Given the description of an element on the screen output the (x, y) to click on. 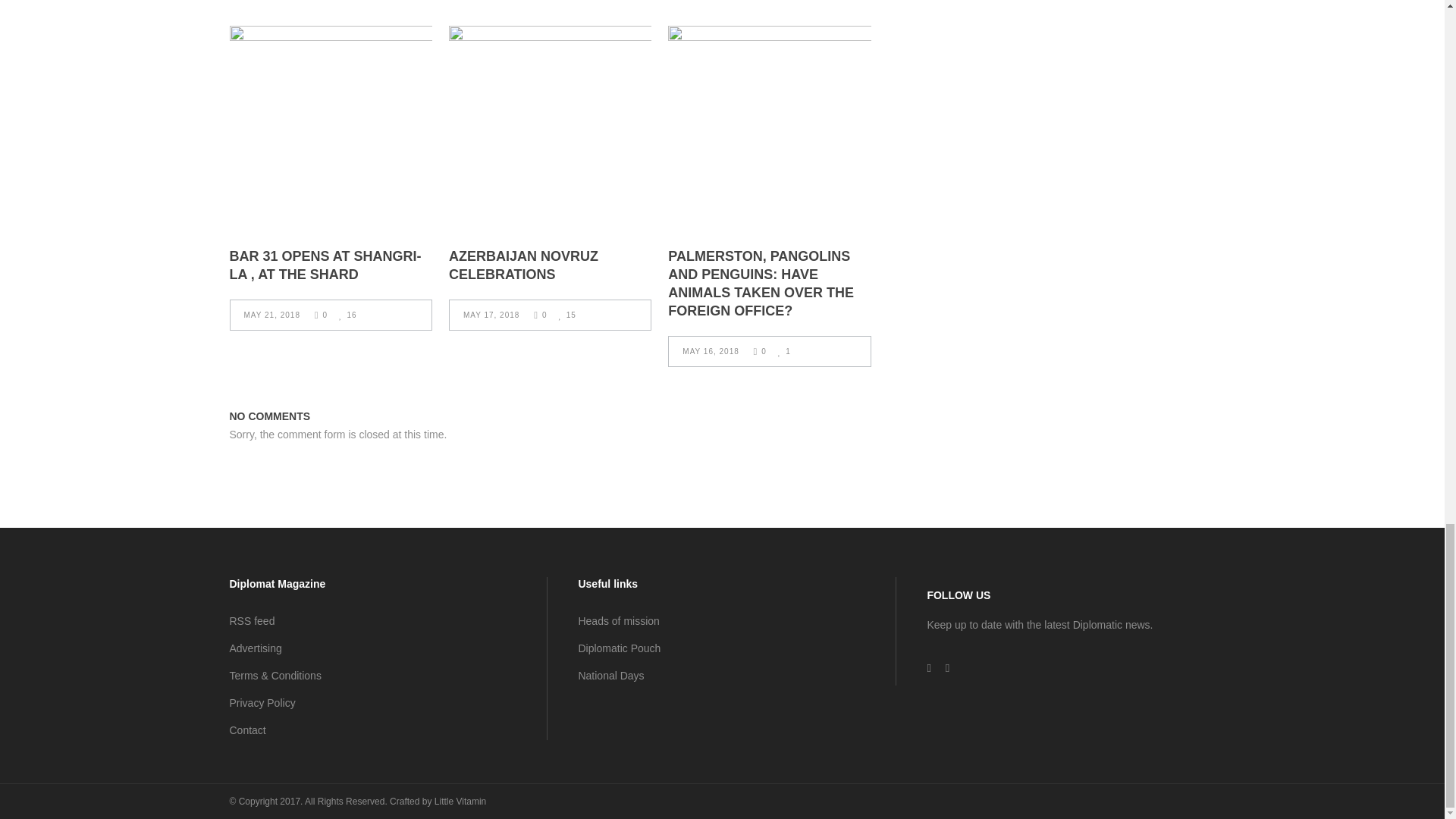
AZERBAIJAN NOVRUZ CELEBRATIONS (549, 126)
Like this (566, 315)
Like this (347, 315)
BAR 31 OPENS AT SHANGRI-LA , AT THE SHARD (329, 126)
AZERBAIJAN NOVRUZ CELEBRATIONS (523, 264)
Like this (783, 351)
BAR 31 OPENS AT SHANGRI-LA , AT THE SHARD (324, 264)
